Given the description of an element on the screen output the (x, y) to click on. 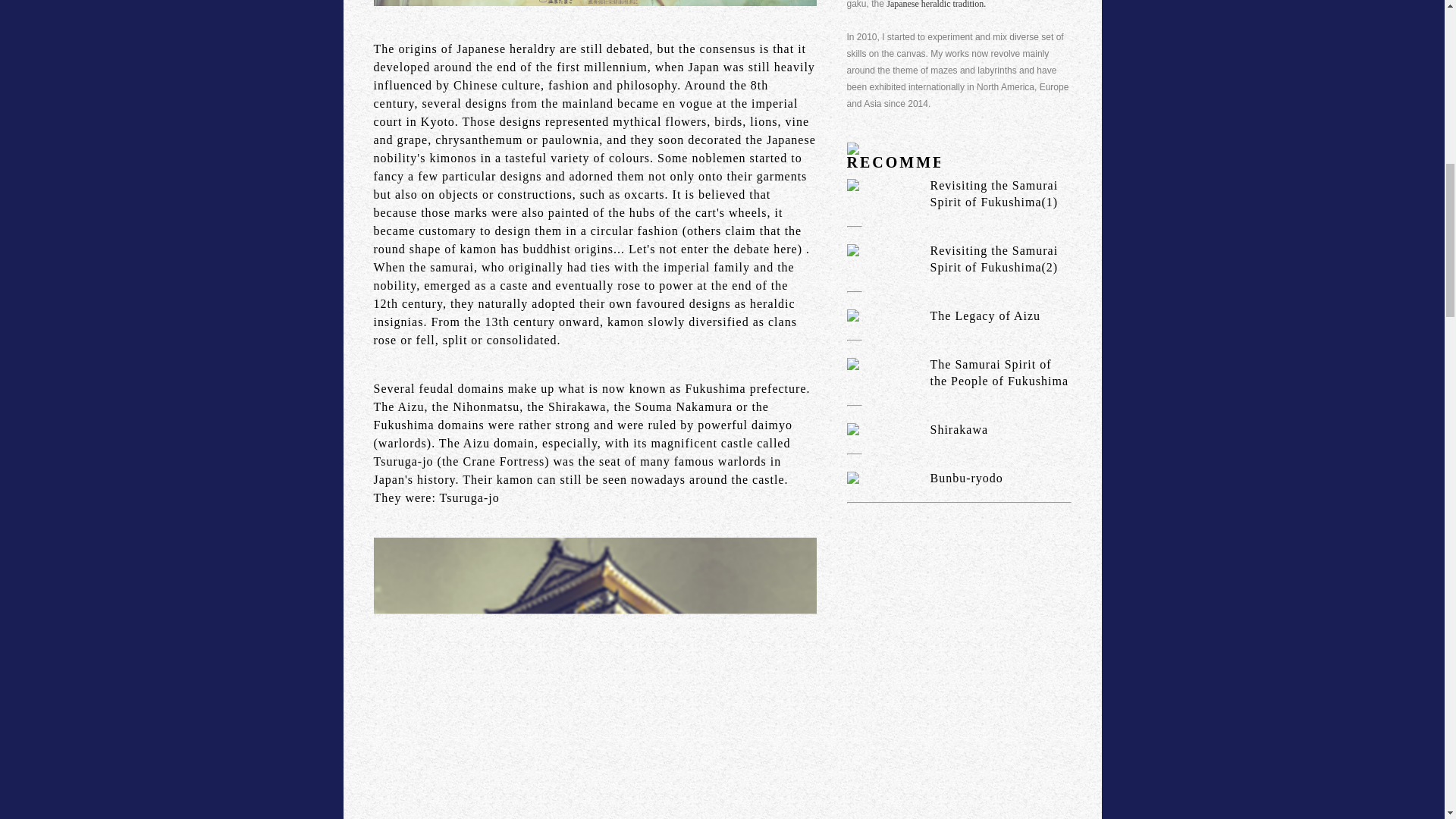
The Legacy of Aizu (957, 315)
Bunbu-ryodo (957, 478)
Shirakawa (957, 429)
The Samurai Spirit of the People of Fukushima (957, 372)
Japanese heraldic tradition. (935, 4)
